Given the description of an element on the screen output the (x, y) to click on. 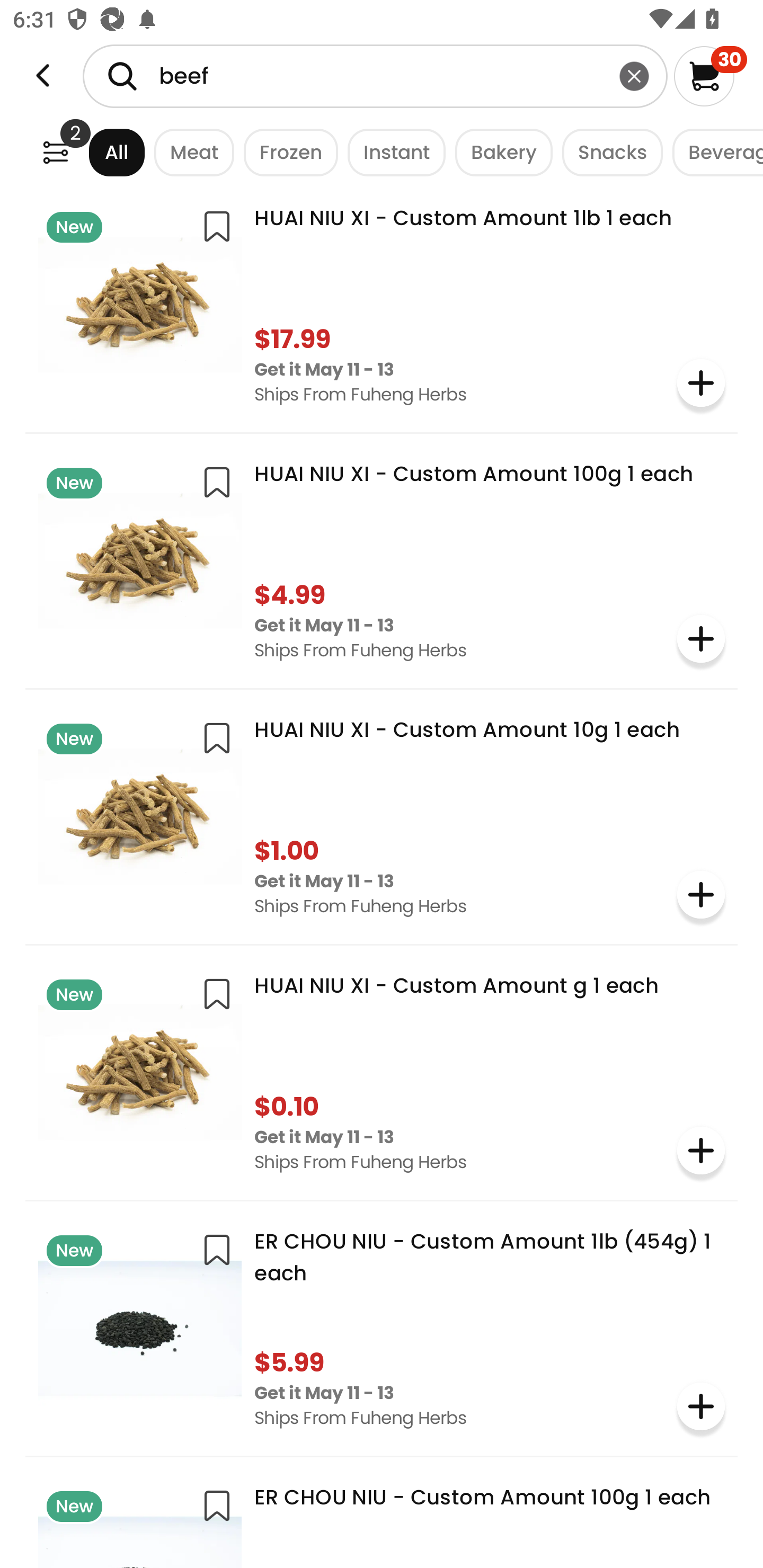
beef (374, 75)
30 (709, 75)
Weee! (42, 76)
Weee! (55, 151)
All (99, 151)
Meat (189, 151)
Frozen (286, 151)
Instant (391, 151)
Bakery (498, 151)
Snacks (607, 151)
Beverages (713, 151)
New ER CHOU NIU - Custom Amount 100g 1 each (381, 1519)
